Given the description of an element on the screen output the (x, y) to click on. 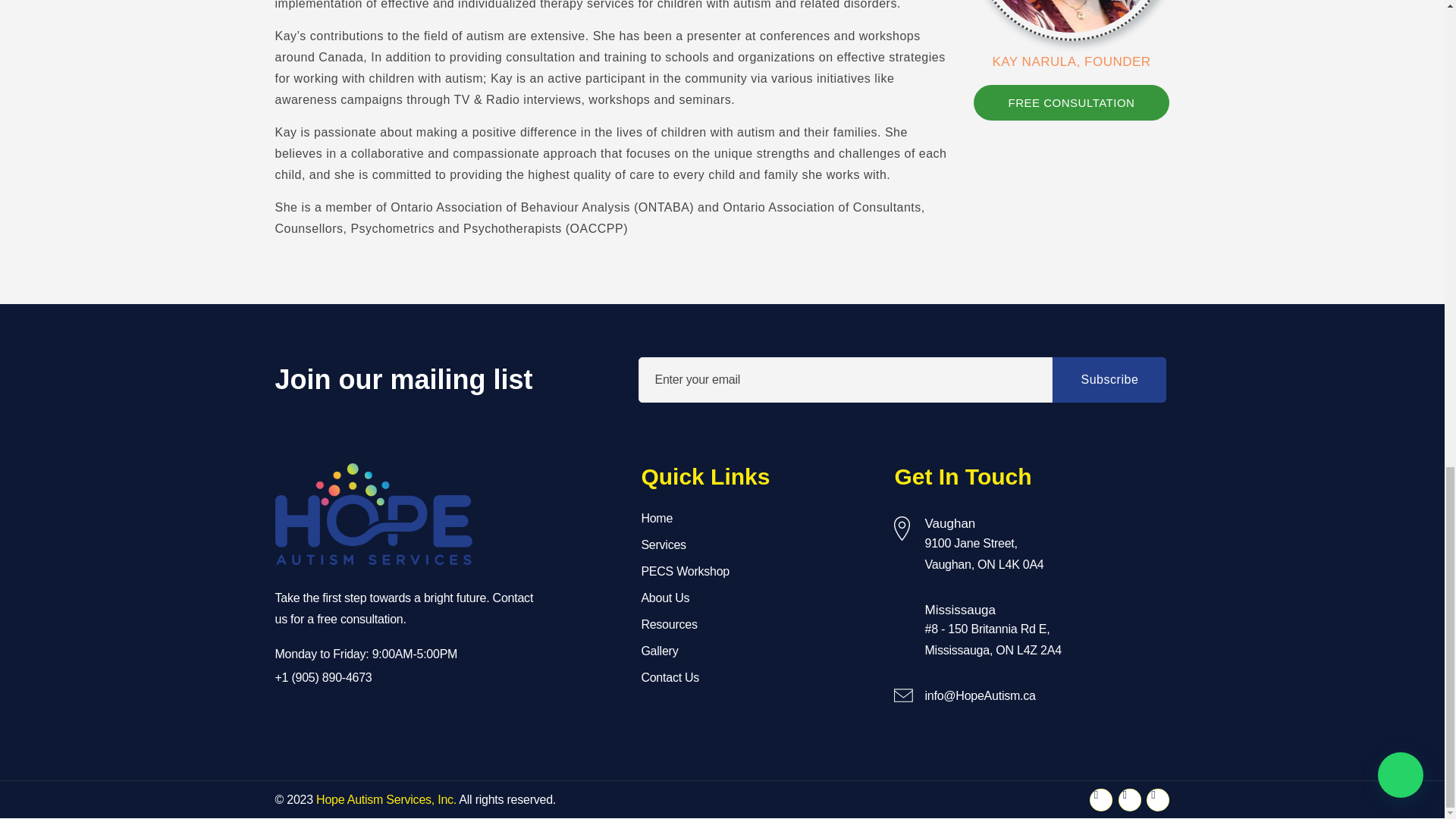
Subscribe (1109, 379)
